Given the description of an element on the screen output the (x, y) to click on. 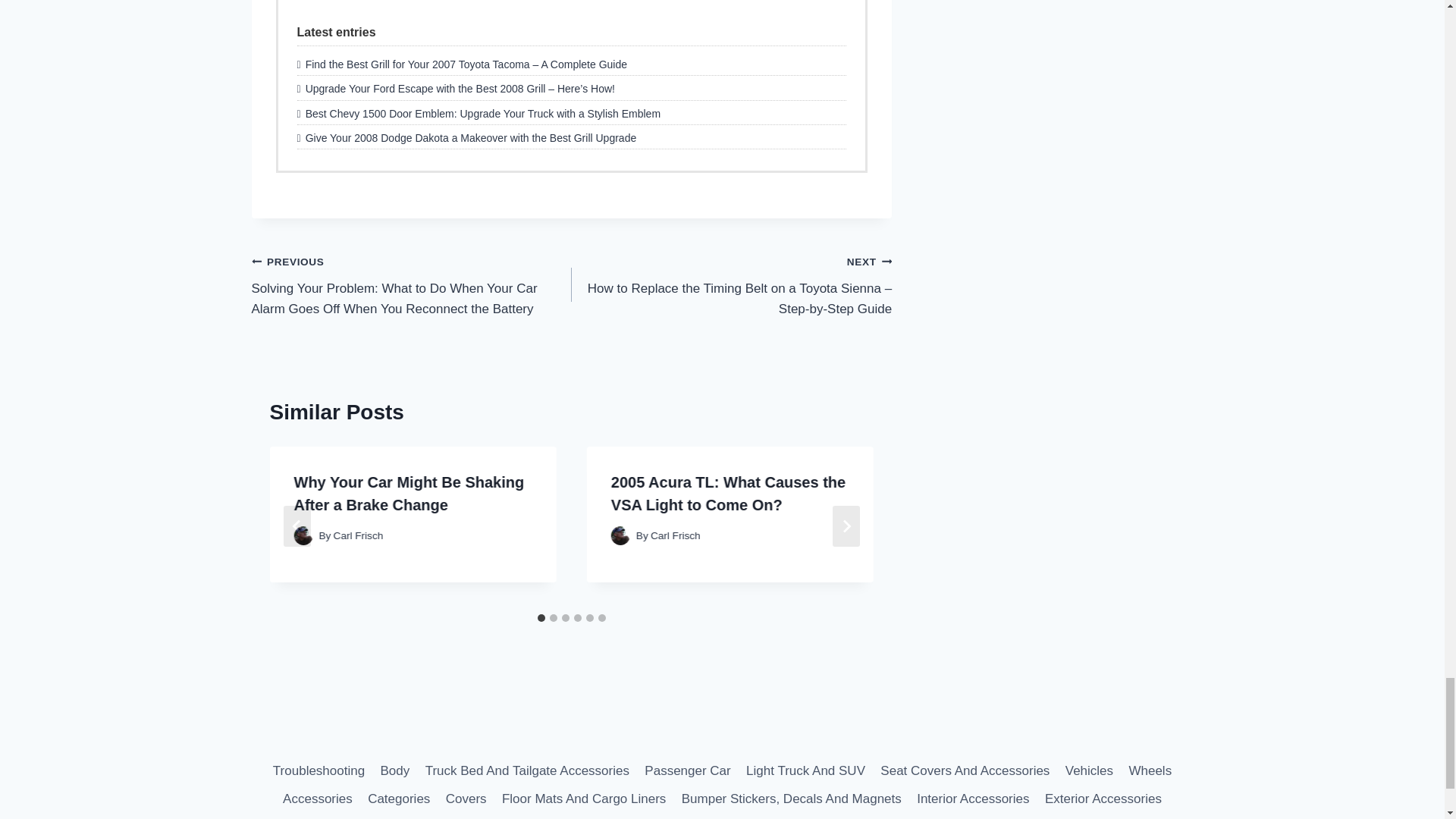
2005 Acura TL: What Causes the VSA Light to Come On? (728, 493)
Why Your Car Might Be Shaking After a Brake Change (409, 493)
